Given the description of an element on the screen output the (x, y) to click on. 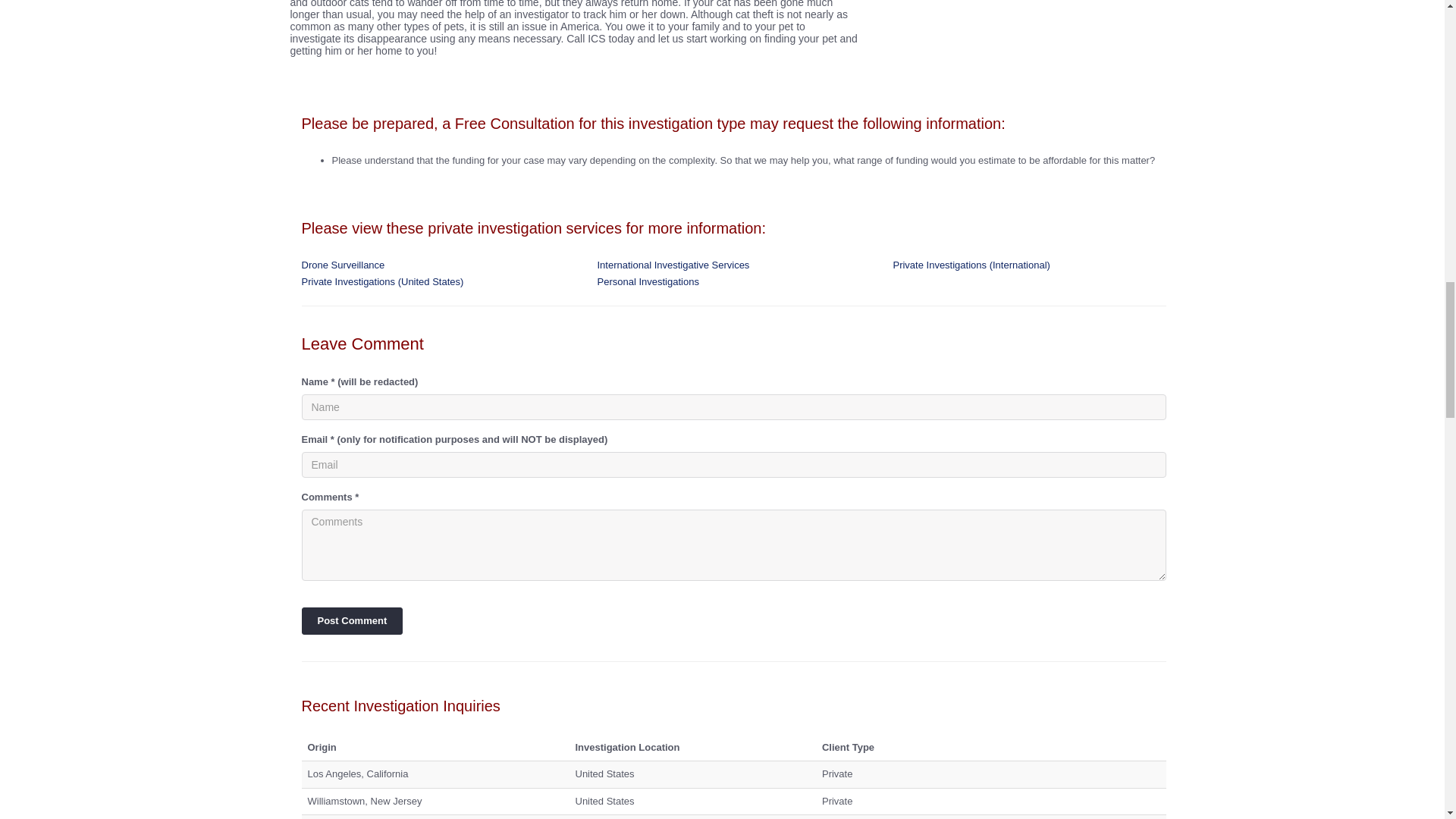
Personal Investigations (647, 281)
Post Comment (352, 620)
Drone Surveillance (343, 265)
International Investigative Services (672, 265)
Post Comment (352, 620)
